Given the description of an element on the screen output the (x, y) to click on. 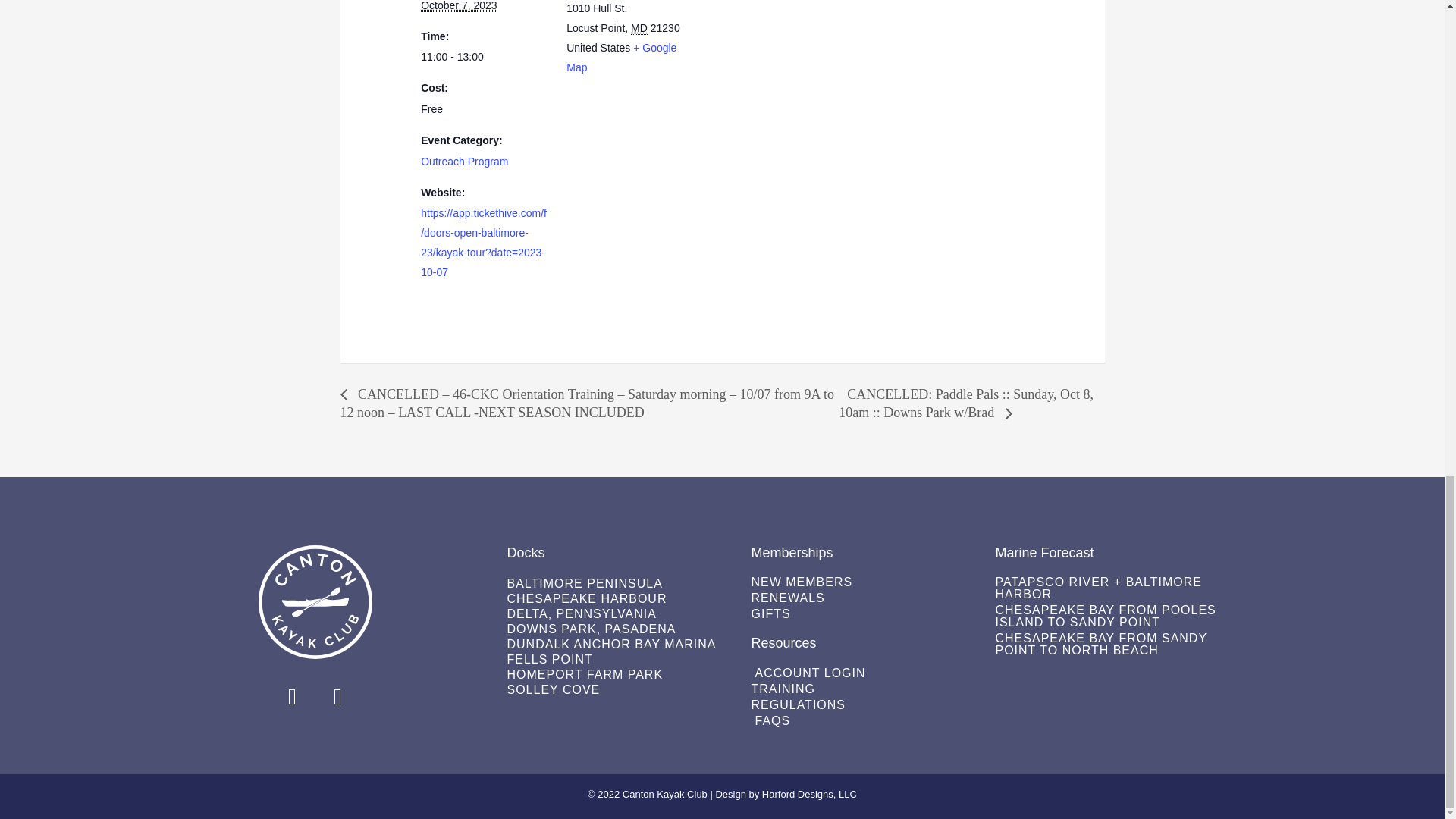
Maryland (638, 28)
2023-10-07 (458, 6)
2023-10-07 (484, 57)
Google maps iframe displaying the address to UA Tide Point (791, 58)
Click to view a Google Map (621, 57)
